Given the description of an element on the screen output the (x, y) to click on. 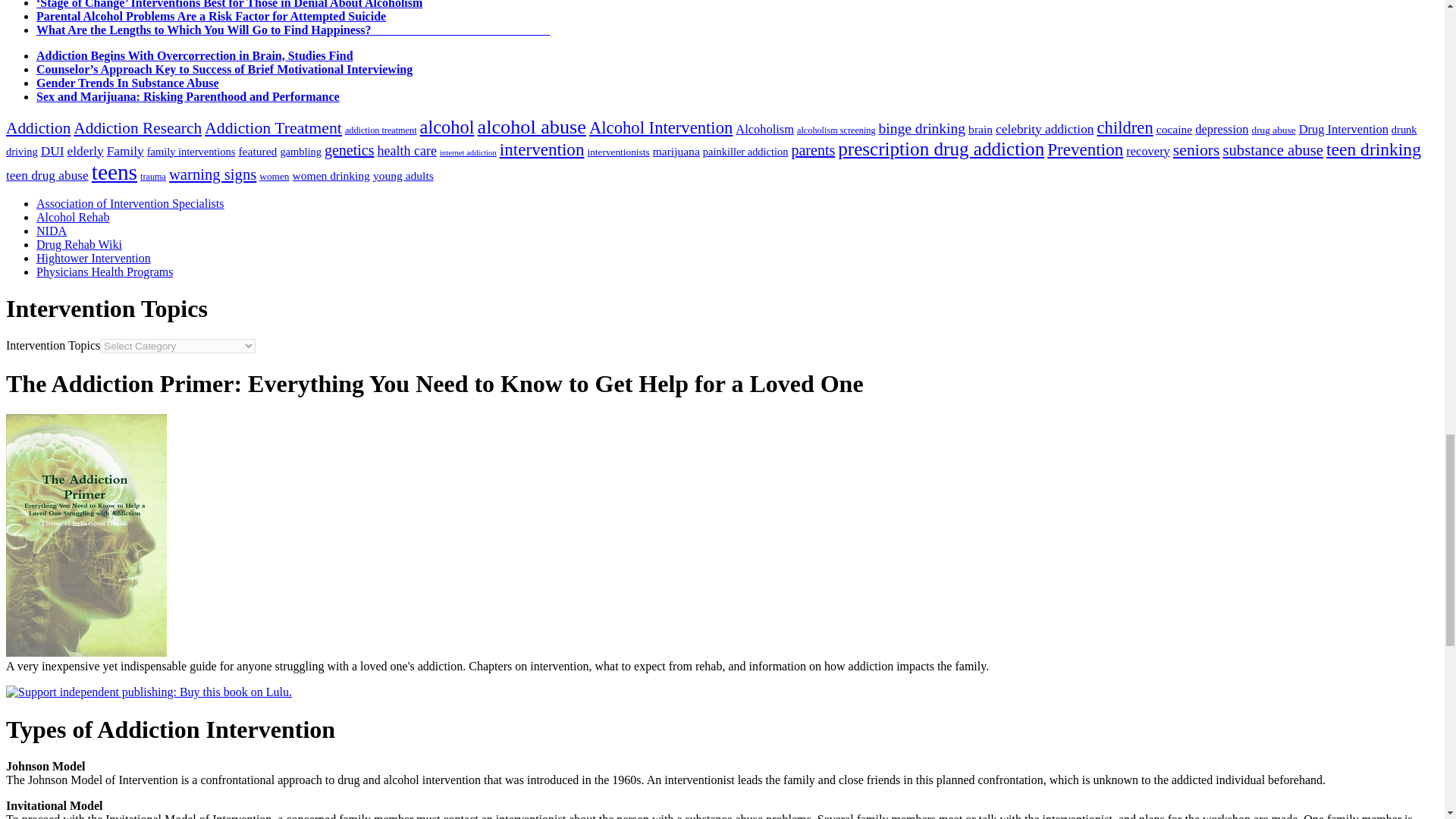
Gender Trends In Substance Abuse (127, 82)
board certified  interventionists (130, 203)
addiction treatment for dr (104, 271)
National Institute on Drug Abuse (51, 230)
Sex and Marijuana: Risking Parenthood and Performance (187, 96)
Information on alcohol rehabilitation (72, 216)
Addiction Begins With Overcorrection in Brain, Studies Find (194, 55)
Addiction interventionist Earl Hightower (93, 257)
